Given the description of an element on the screen output the (x, y) to click on. 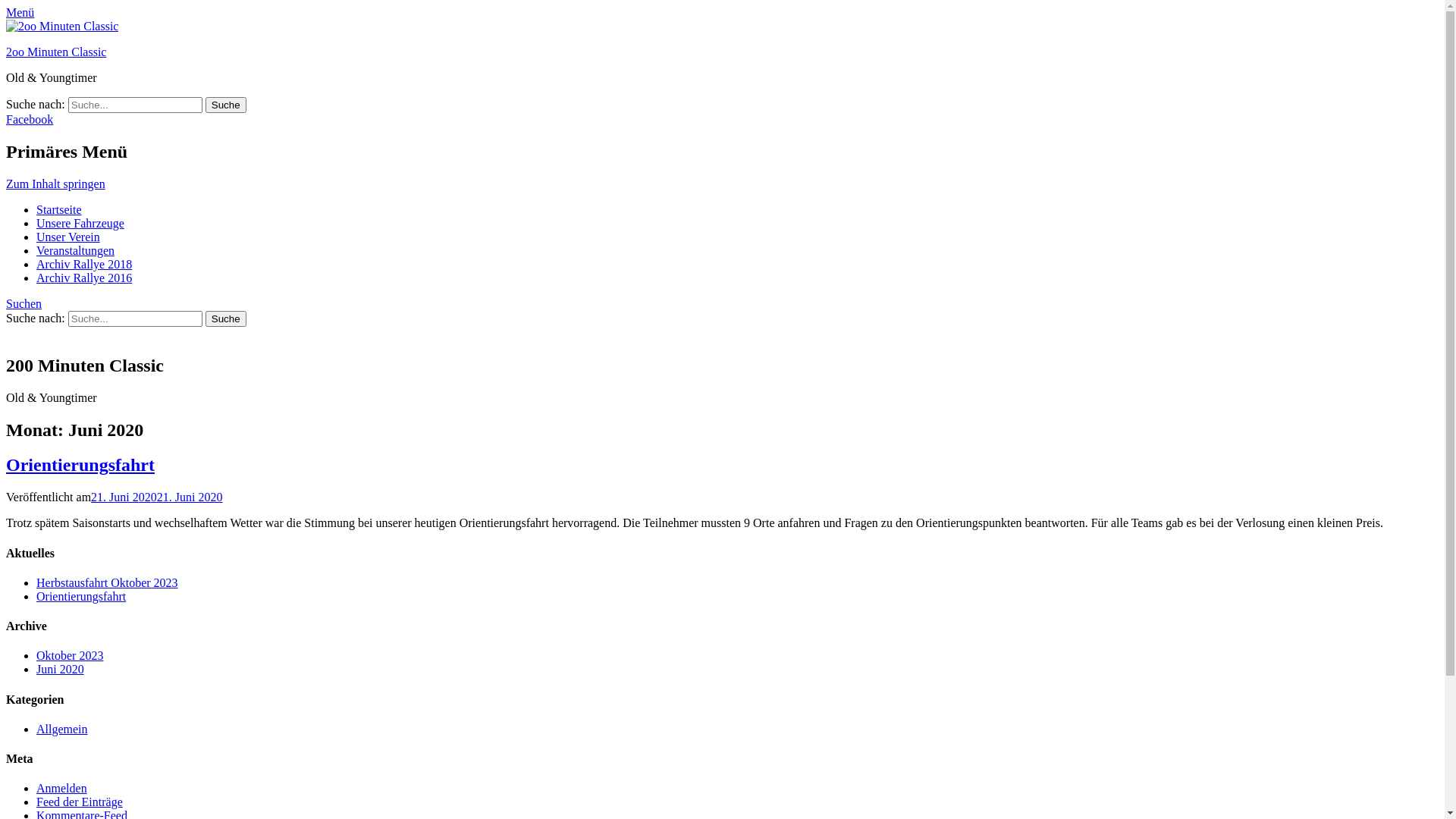
Startseite Element type: text (58, 209)
Anmelden Element type: text (61, 787)
Allgemein Element type: text (61, 728)
Suchen Element type: text (23, 303)
Archiv Rallye 2018 Element type: text (83, 263)
Zum Inhalt springen Element type: text (55, 183)
Orientierungsfahrt Element type: text (80, 464)
Oktober 2023 Element type: text (69, 655)
Veranstaltungen Element type: text (75, 250)
Unser Verein Element type: text (68, 236)
21. Juni 202021. Juni 2020 Element type: text (156, 496)
Unsere Fahrzeuge Element type: text (80, 222)
Suche nach: Element type: hover (135, 318)
Archiv Rallye 2016 Element type: text (83, 277)
Facebook Element type: text (29, 118)
Suche nach: Element type: hover (135, 104)
Suche Element type: text (225, 104)
Juni 2020 Element type: text (60, 668)
2oo Minuten Classic Element type: text (56, 51)
Herbstausfahrt Oktober 2023 Element type: text (107, 582)
Suche Element type: text (225, 318)
Orientierungsfahrt Element type: text (80, 595)
